Given the description of an element on the screen output the (x, y) to click on. 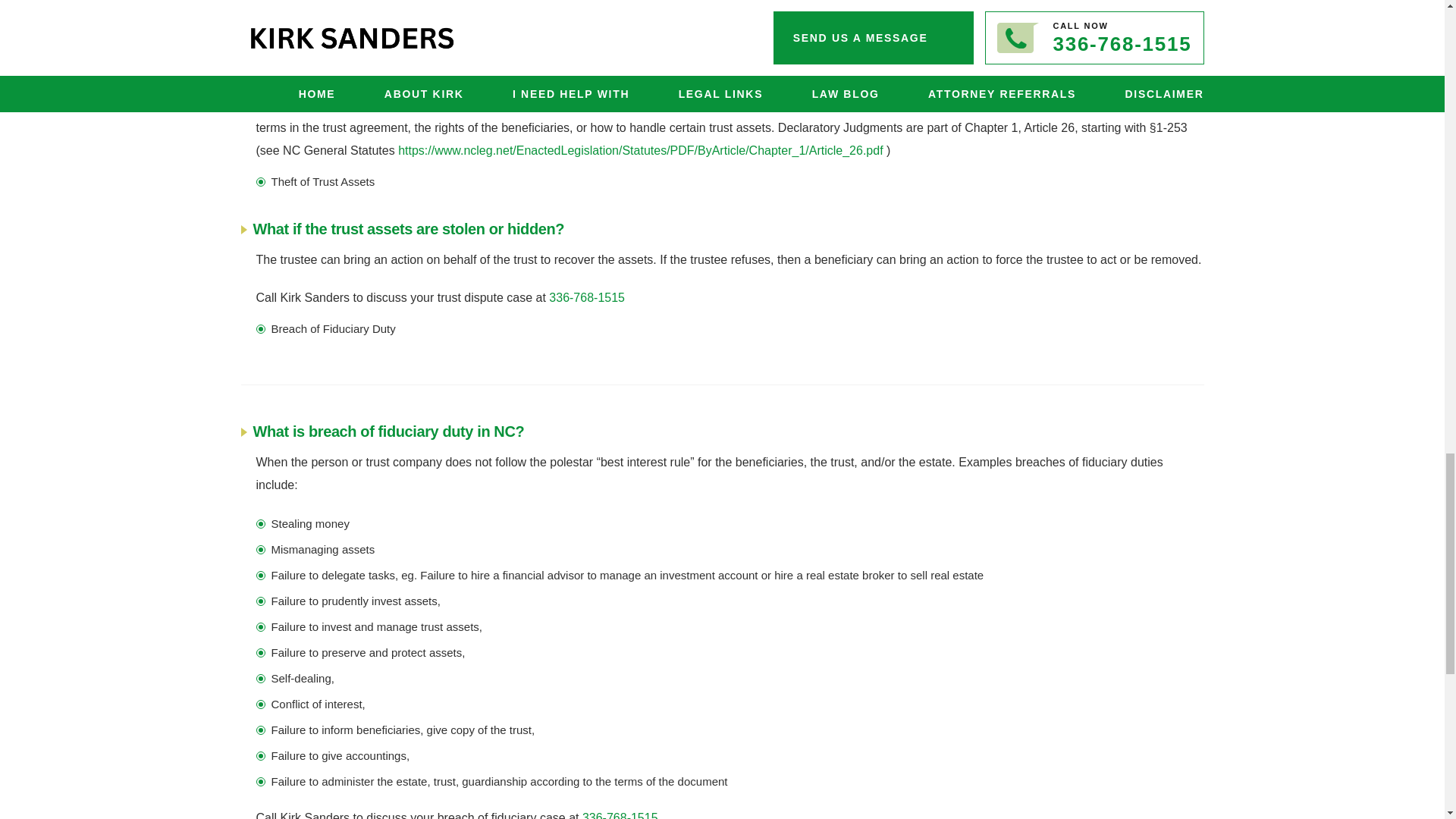
336-768-1515 (586, 297)
336-768-1515 (620, 815)
